Given the description of an element on the screen output the (x, y) to click on. 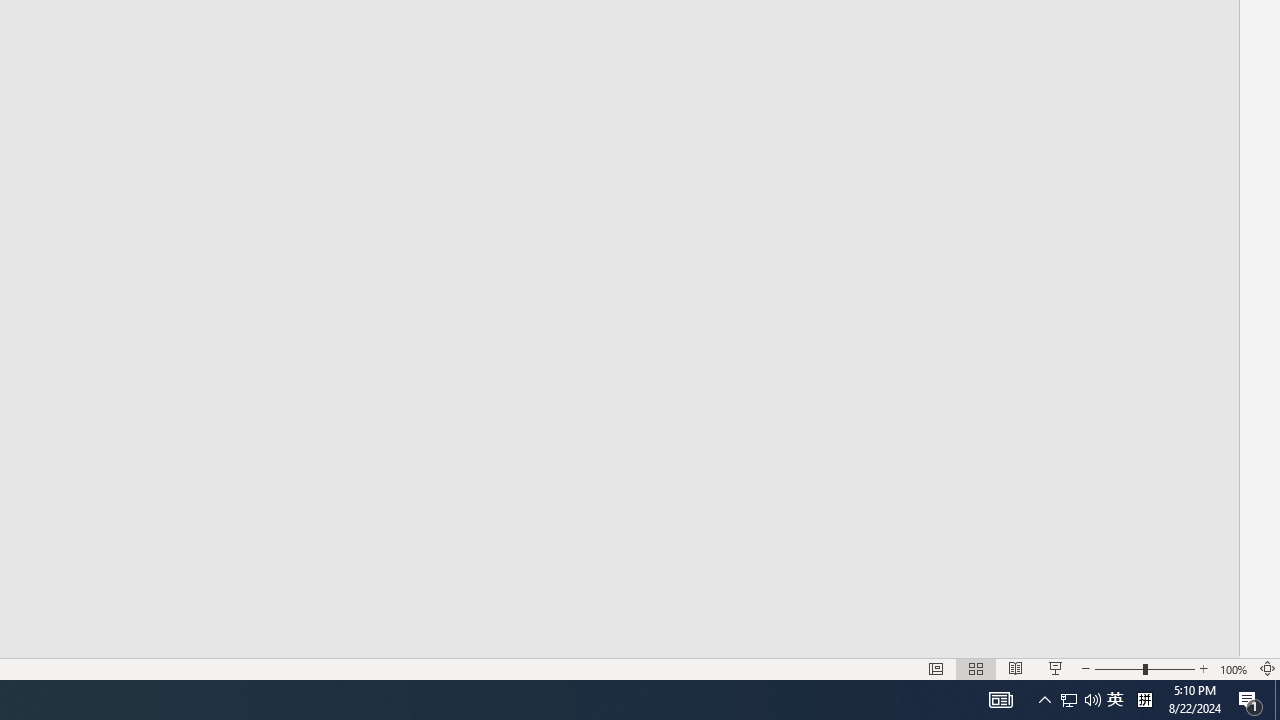
Zoom 100% (1234, 668)
